Given the description of an element on the screen output the (x, y) to click on. 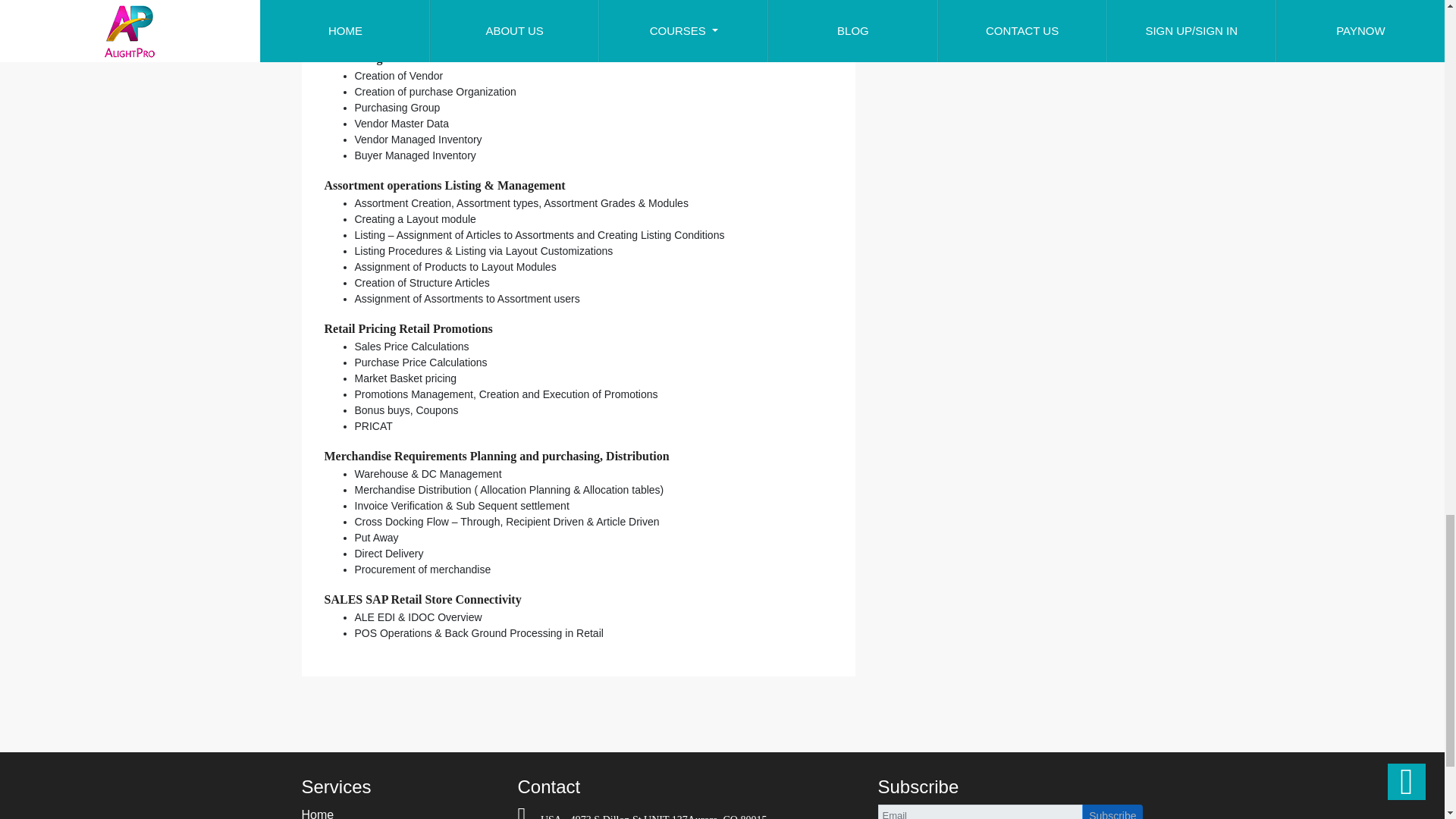
Home (317, 813)
Subscribe (1111, 811)
Subscribe (1111, 811)
